Given the description of an element on the screen output the (x, y) to click on. 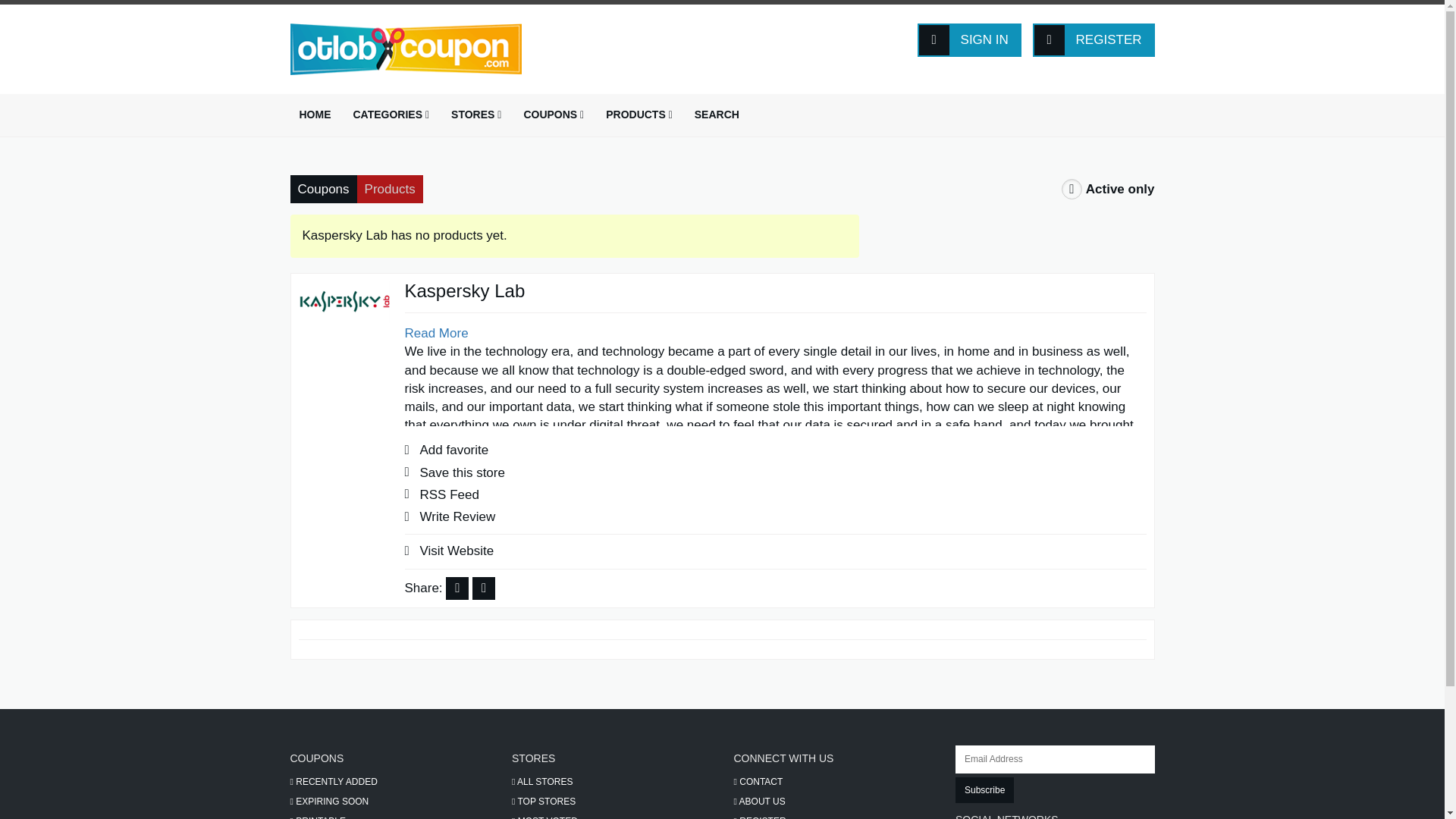
REGISTER (1093, 39)
HOME (314, 114)
SIGN IN (969, 39)
